Given the description of an element on the screen output the (x, y) to click on. 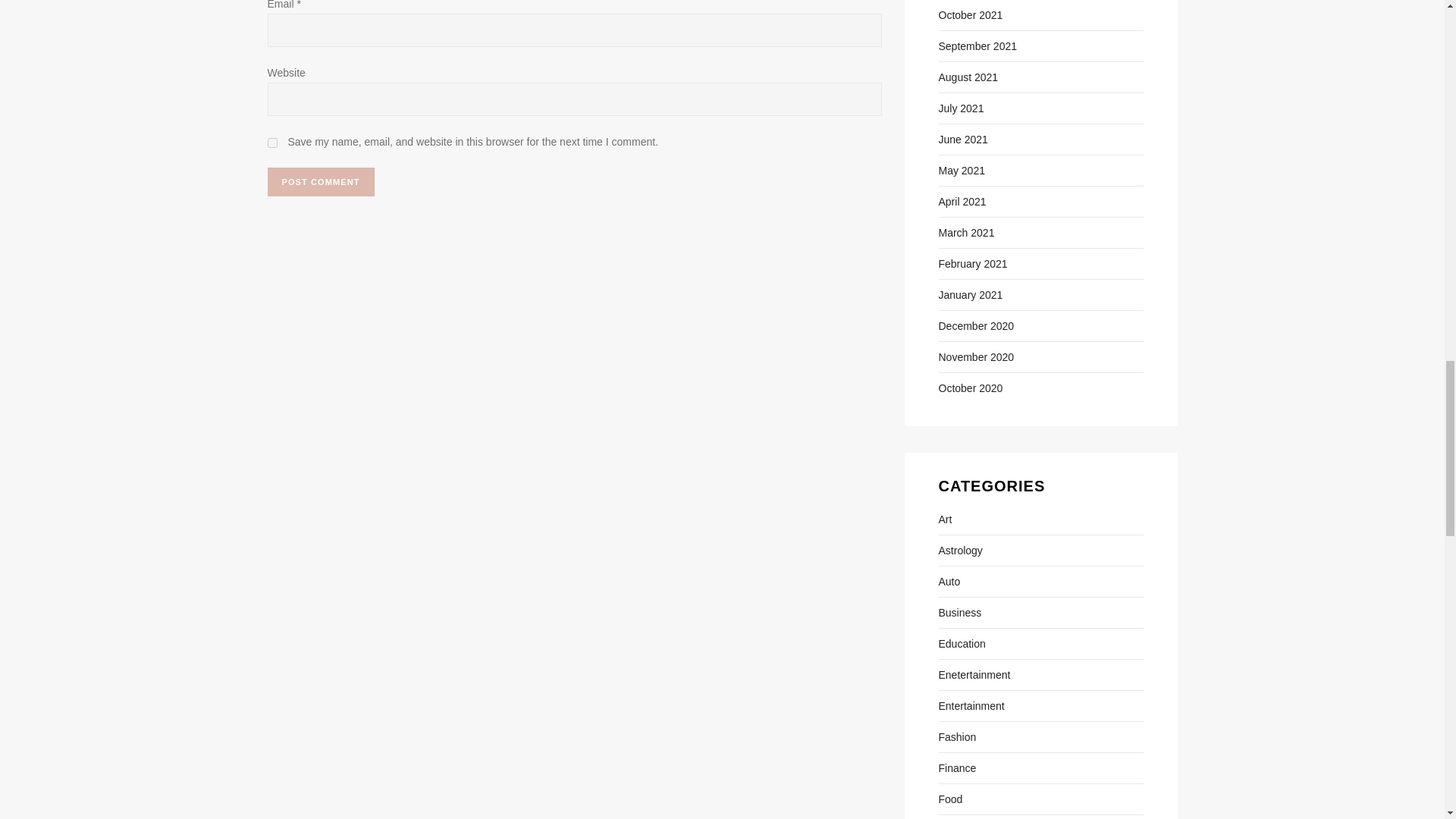
Post Comment (320, 181)
yes (271, 143)
Post Comment (320, 181)
